Given the description of an element on the screen output the (x, y) to click on. 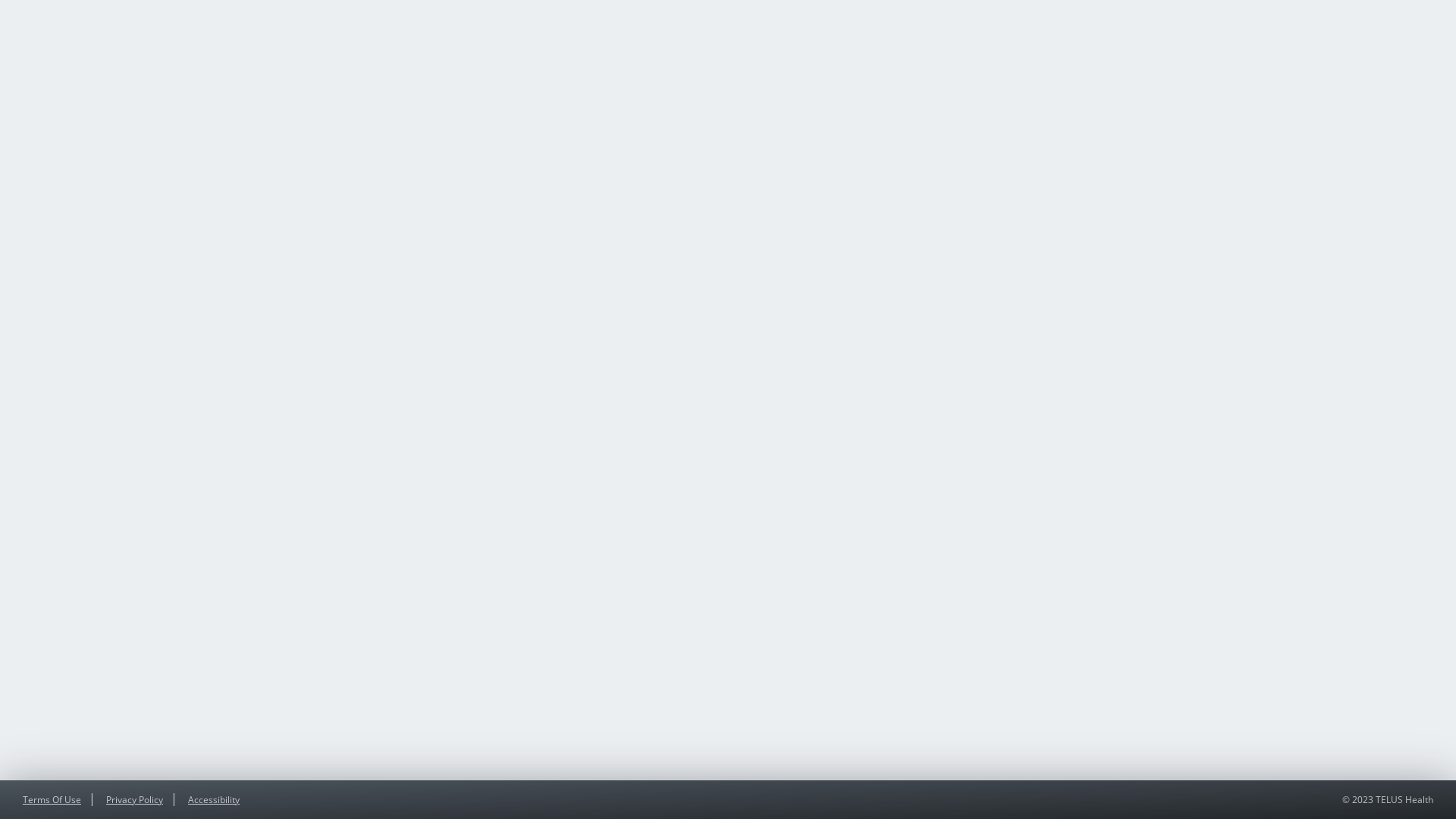
Accessibility Element type: text (213, 799)
Privacy Policy Element type: text (134, 799)
Terms Of Use Element type: text (51, 799)
